Given the description of an element on the screen output the (x, y) to click on. 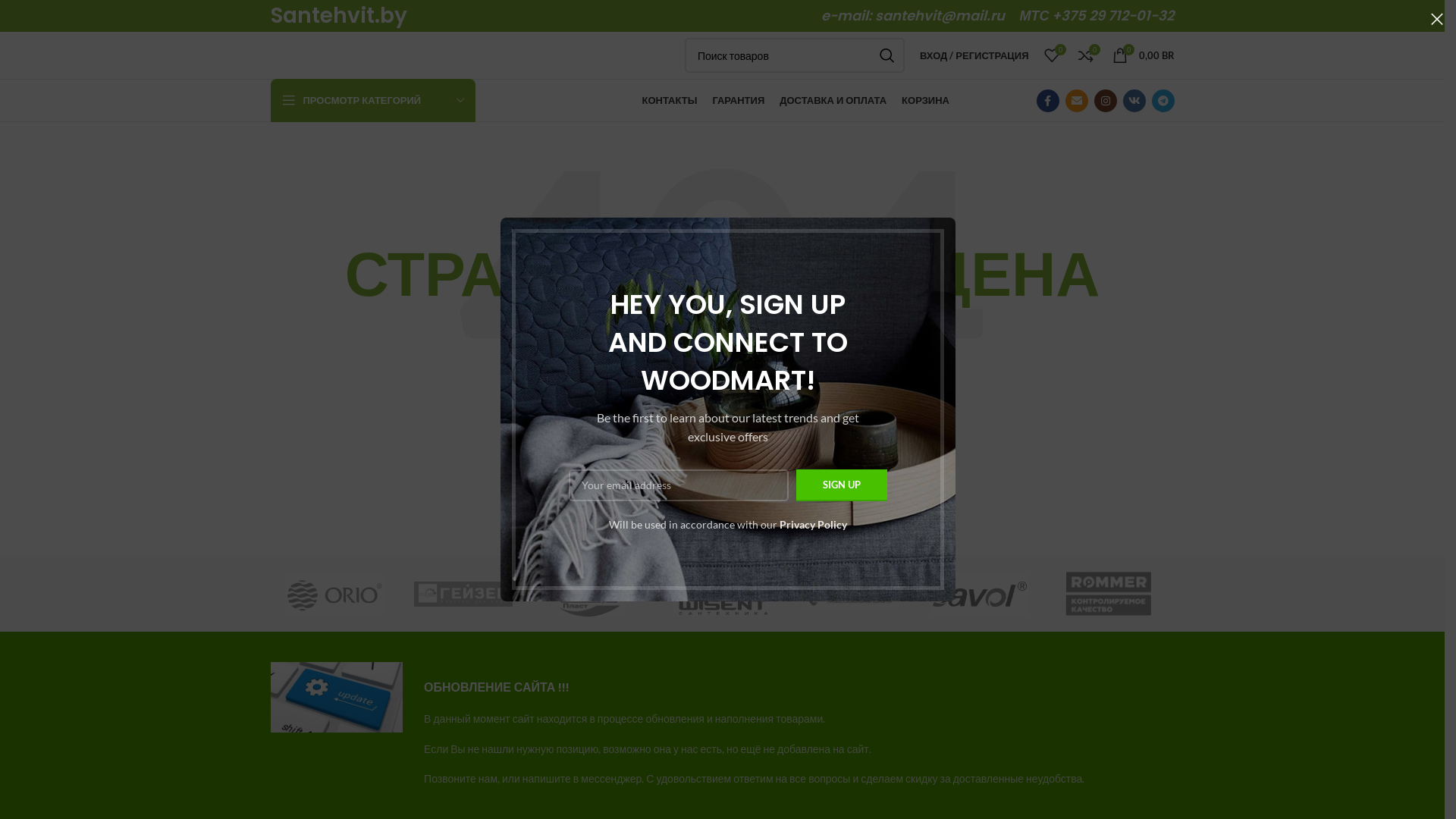
0
0,00 BR Element type: text (1142, 55)
e-mail: santehvit@mail.ru Element type: text (912, 15)
Sign up Element type: text (841, 485)
Loffrey Element type: hover (1237, 593)
ROMMER Element type: hover (1108, 593)
Privacy Policy Element type: text (813, 523)
0 Element type: text (1085, 55)
Savol Element type: hover (979, 593)
Santehvit.by Element type: text (337, 15)
Terminus Element type: hover (850, 594)
Wisent Element type: hover (721, 593)
0 Element type: text (1050, 55)
